Given the description of an element on the screen output the (x, y) to click on. 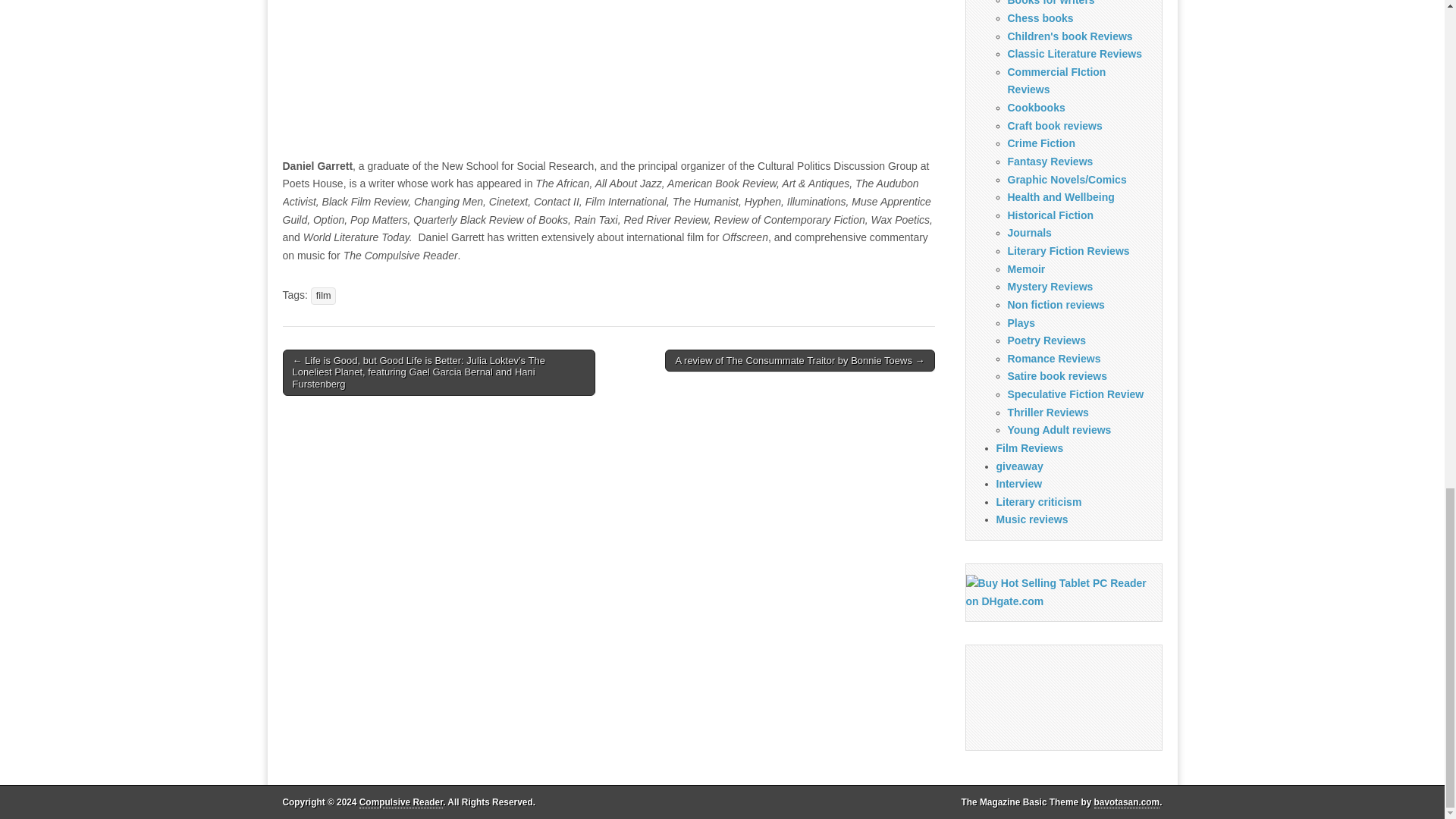
Chess books (1040, 18)
Craft book reviews (1054, 125)
Fantasy Reviews (1050, 161)
Cookbooks (1035, 107)
Books for writers (1050, 2)
Health and Wellbeing (1060, 196)
Commercial FIction Reviews (1056, 81)
film (323, 295)
Crime Fiction (1040, 143)
Children's book Reviews (1069, 36)
Journals (1029, 232)
Historical Fiction (1050, 215)
Classic Literature Reviews (1074, 53)
